Given the description of an element on the screen output the (x, y) to click on. 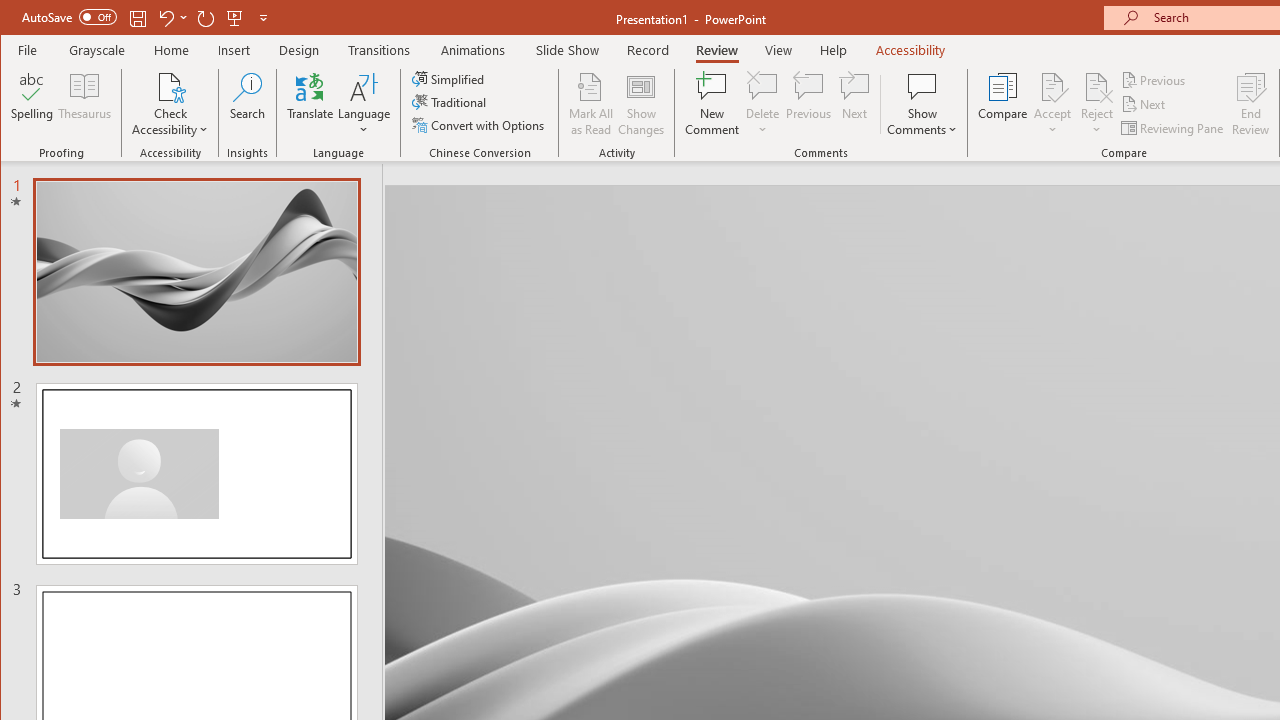
Accept Change (1052, 86)
Compare (1002, 104)
Accept (1052, 104)
Next (1144, 103)
End Review (1251, 104)
Reviewing Pane (1173, 127)
Previous (1154, 80)
